Given the description of an element on the screen output the (x, y) to click on. 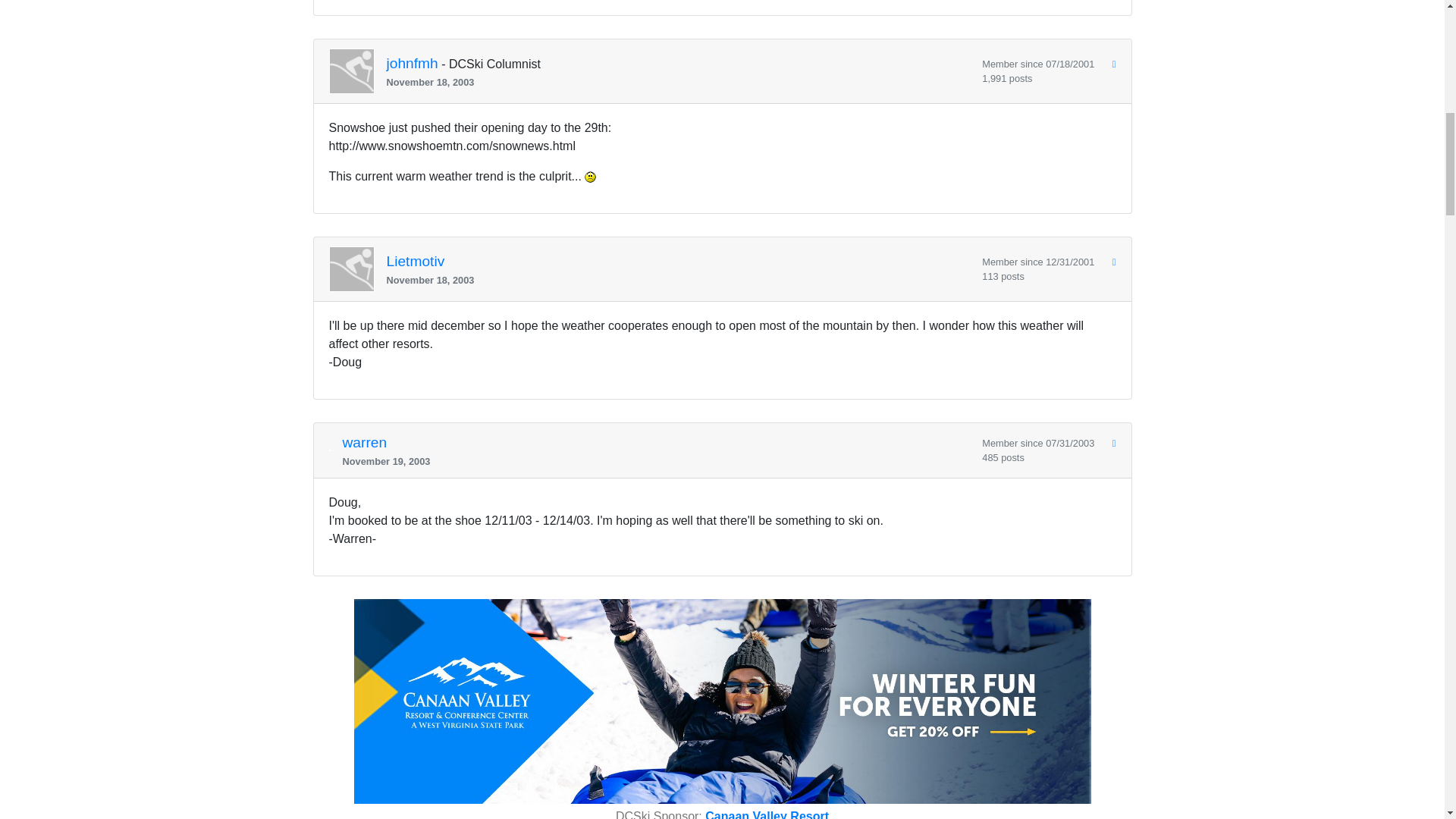
Lietmotiv (416, 261)
warren (364, 442)
johnfmh (412, 63)
November 18, 2003 at 02:41 pm (679, 82)
November 18, 2003 at 03:52 pm (679, 279)
Canaan Valley Resort (766, 814)
November 19, 2003 at 06:49 am (656, 461)
